Given the description of an element on the screen output the (x, y) to click on. 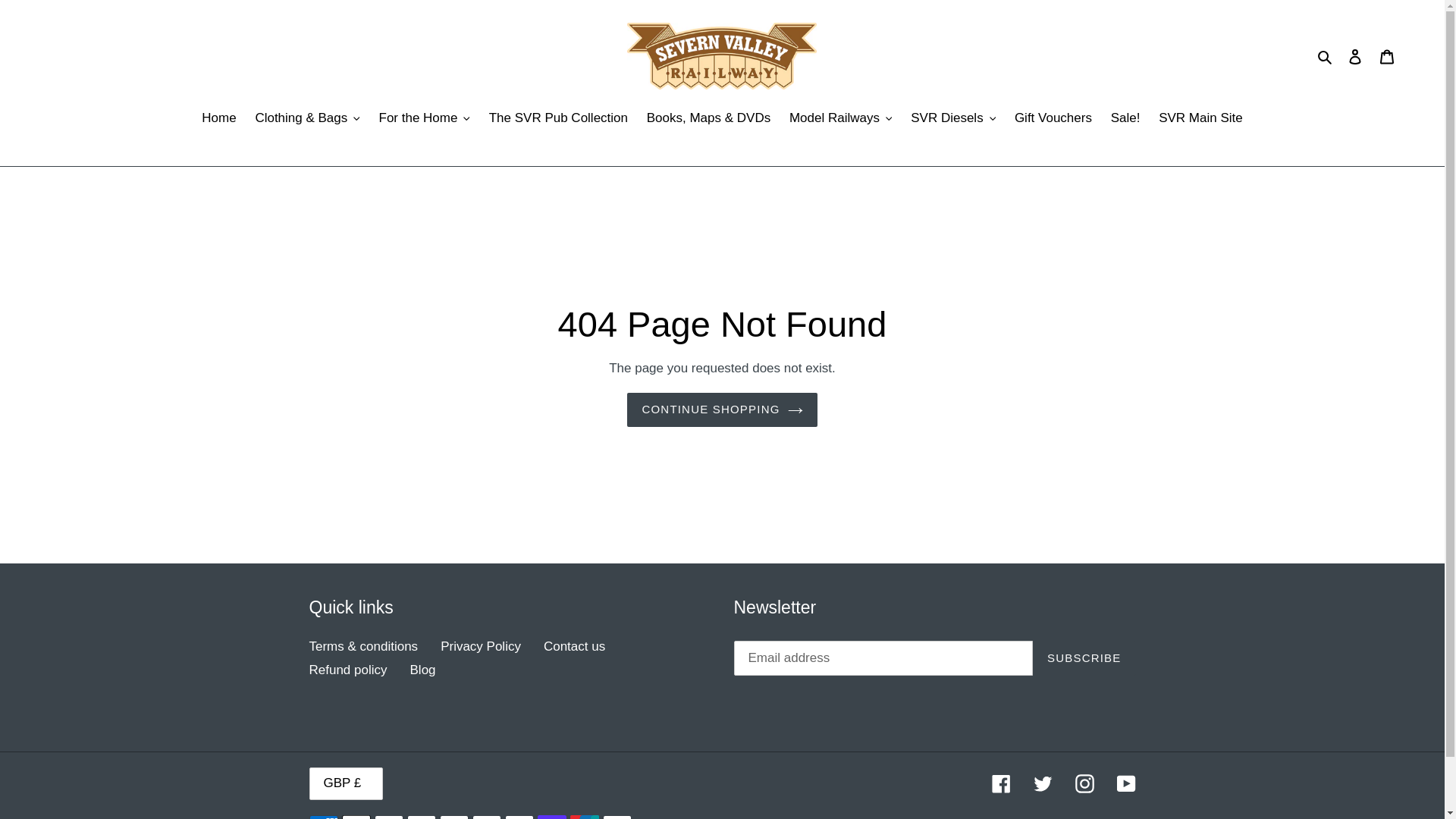
Cart (1387, 55)
Log in (1355, 55)
Search (1326, 55)
